Given the description of an element on the screen output the (x, y) to click on. 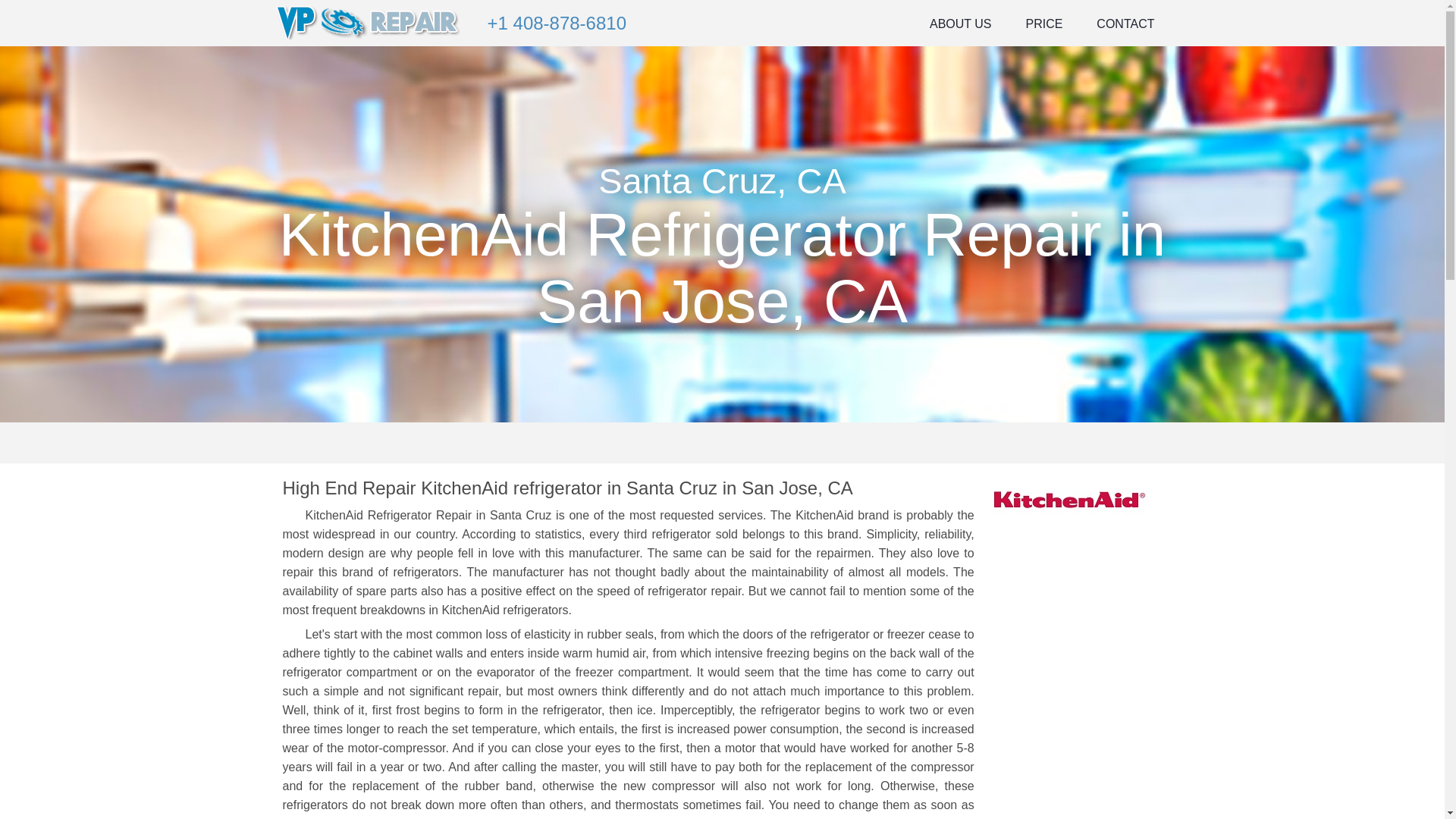
CONTACT (1125, 19)
VP-Repair (369, 20)
KitchenAid refrigerator repair in Santa Cruz (1069, 499)
ABOUT US (959, 19)
PRICE (1043, 19)
